Given the description of an element on the screen output the (x, y) to click on. 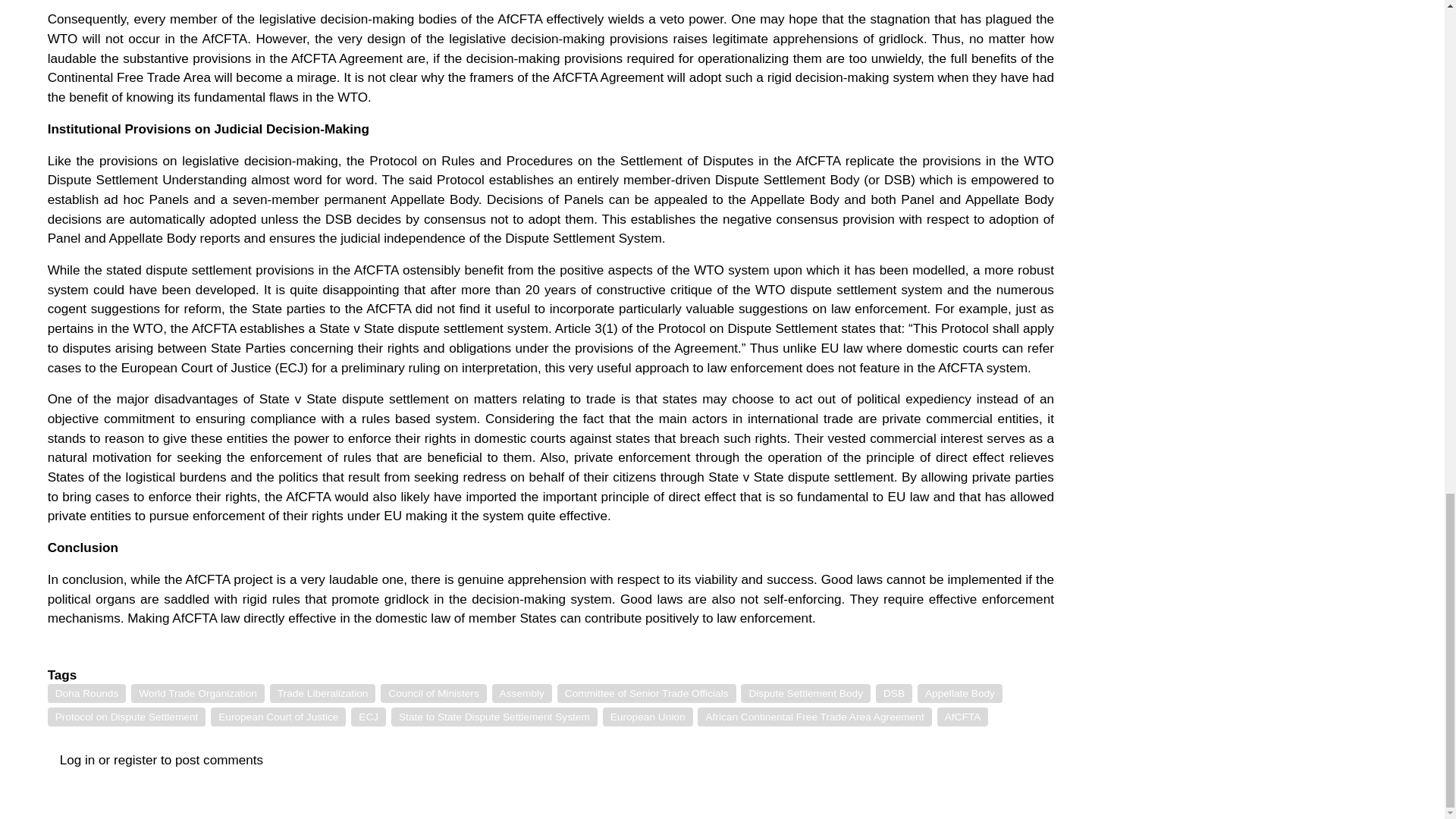
Appellate Body (960, 692)
Assembly (521, 692)
Committee of Senior Trade Officials (646, 692)
ECJ (367, 716)
European Court of Justice (278, 716)
Protocol on Dispute Settlement (127, 716)
Doha Rounds (87, 692)
Trade Liberalization (322, 692)
DSB (894, 692)
World Trade Organization (197, 692)
